Given the description of an element on the screen output the (x, y) to click on. 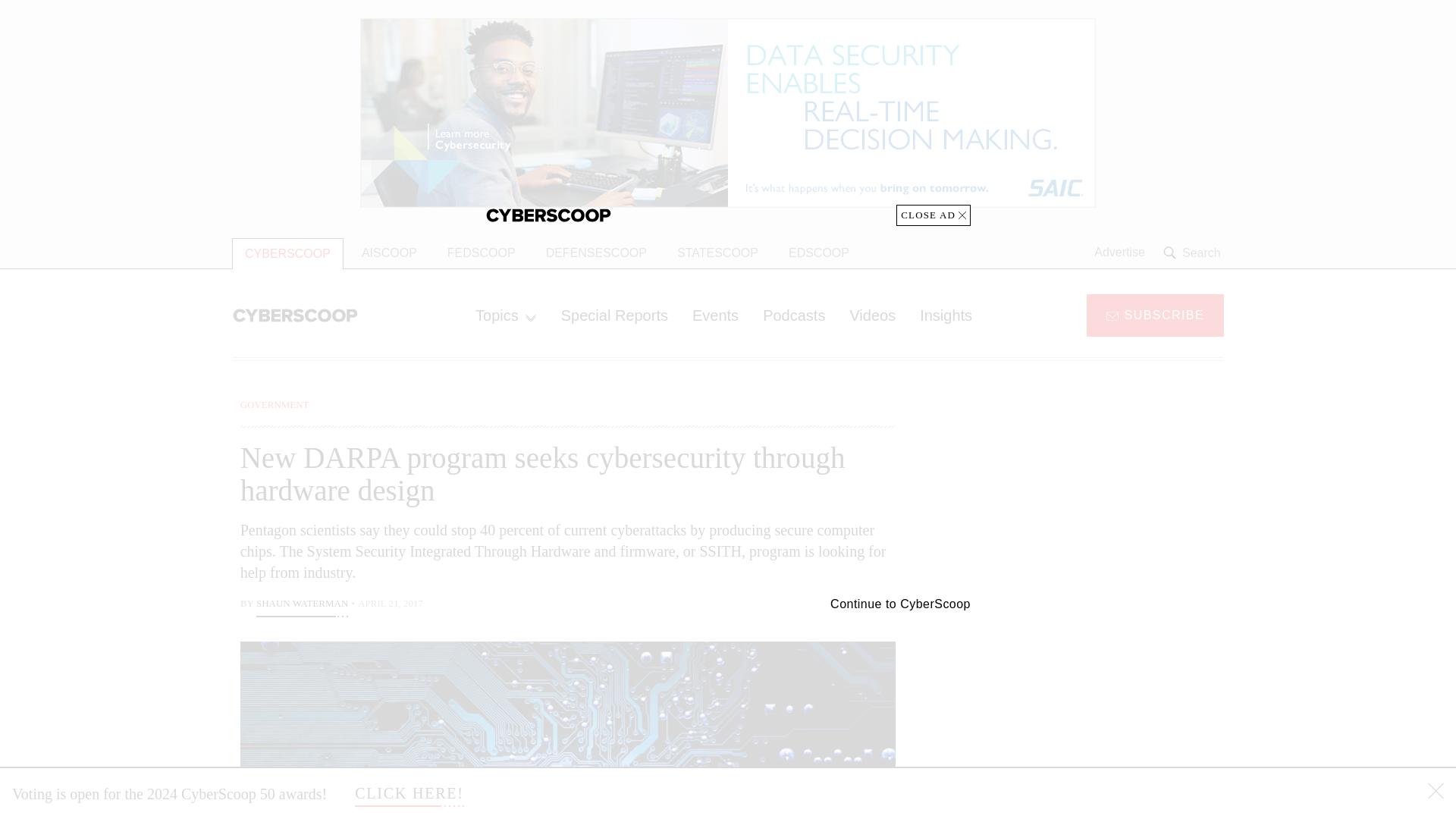
Shaun Waterman (301, 604)
CLICK HERE! (409, 793)
Advertise (1119, 252)
STATESCOOP (717, 253)
Special Reports (613, 315)
FEDSCOOP (481, 253)
3rd party ad content (1101, 492)
CYBERSCOOP (287, 253)
